Given the description of an element on the screen output the (x, y) to click on. 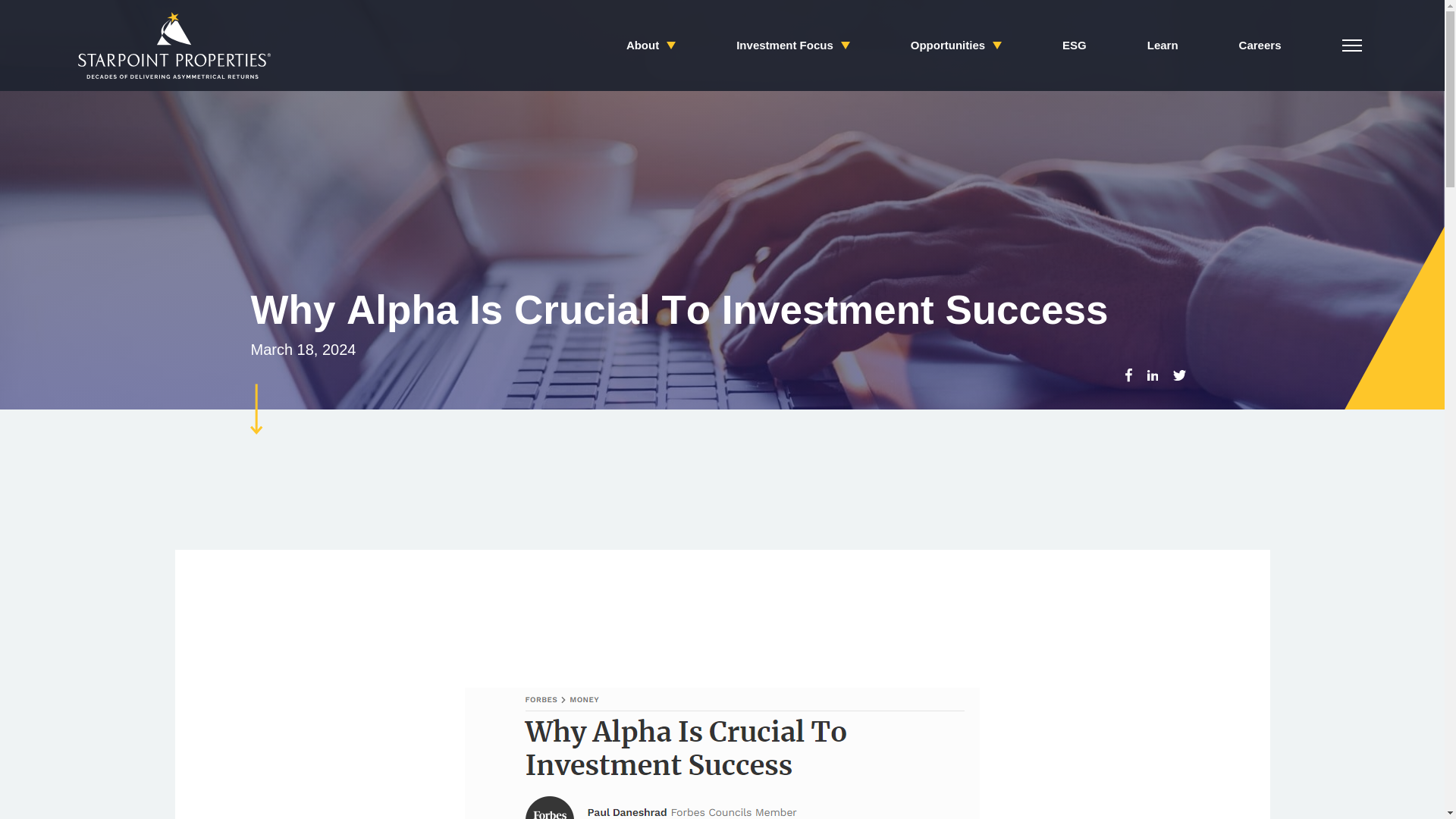
Investment Focus (793, 45)
Opportunities (956, 45)
